Given the description of an element on the screen output the (x, y) to click on. 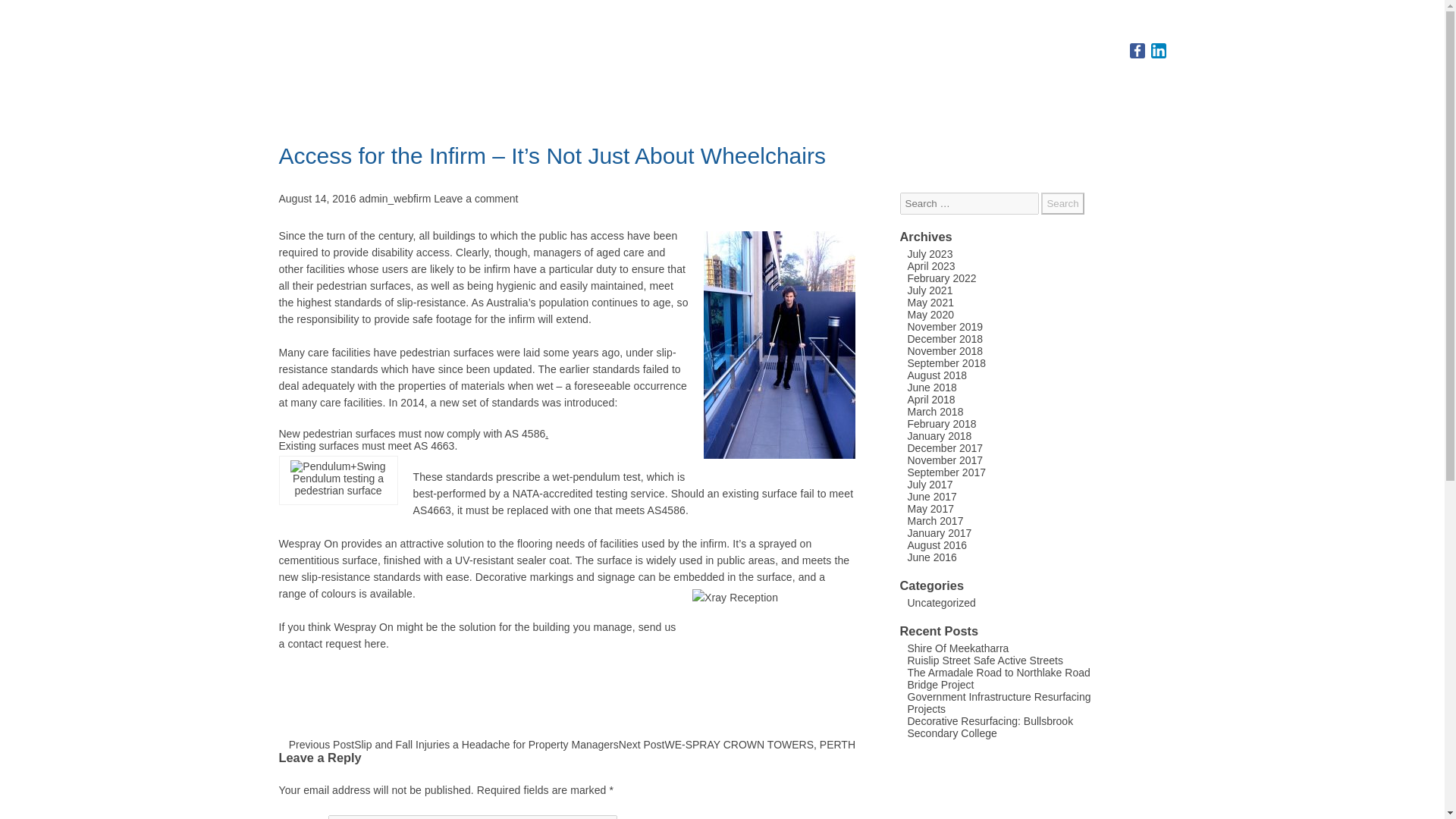
Services (1064, 76)
April 2018 (931, 399)
February 2022 (941, 277)
December 2018 (944, 338)
April 2023 (931, 265)
January 2018 (939, 435)
Search (1062, 203)
Education (996, 76)
Commercial (917, 76)
AS 4586 (525, 433)
